Given the description of an element on the screen output the (x, y) to click on. 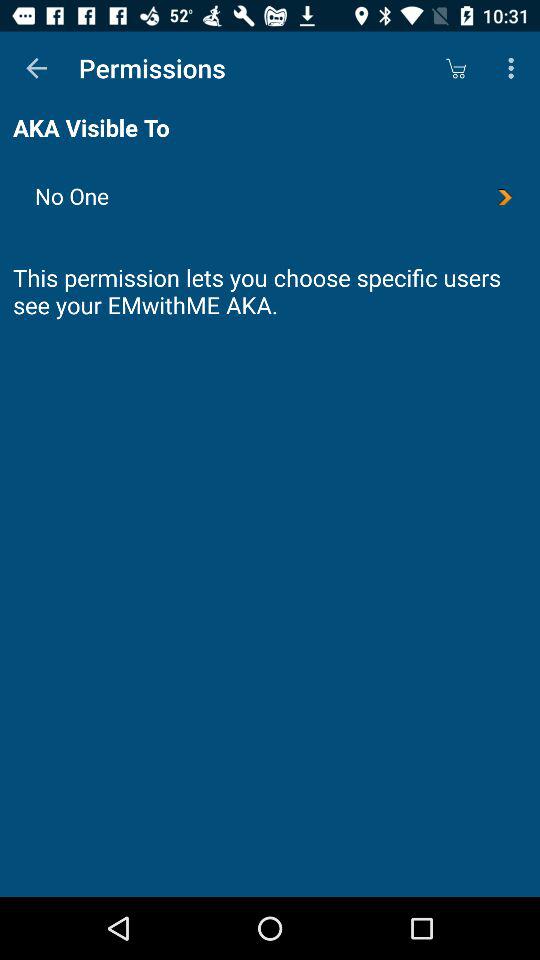
click the app next to the permissions (36, 68)
